Given the description of an element on the screen output the (x, y) to click on. 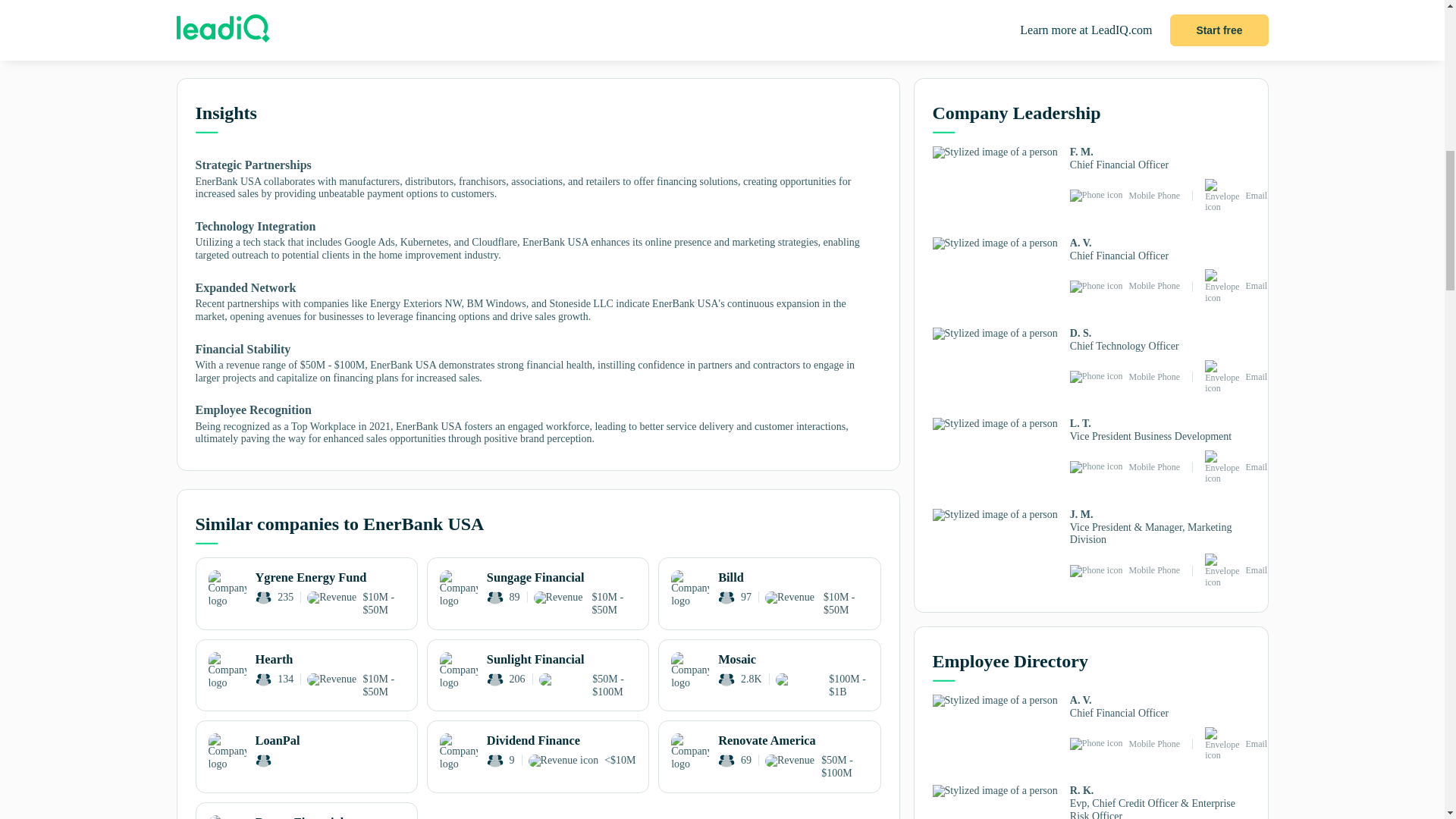
FAQ (838, 46)
Tech Stack (476, 46)
Similar companies (357, 46)
Email Format (718, 46)
LoanPal (306, 752)
Insights (236, 47)
